Given the description of an element on the screen output the (x, y) to click on. 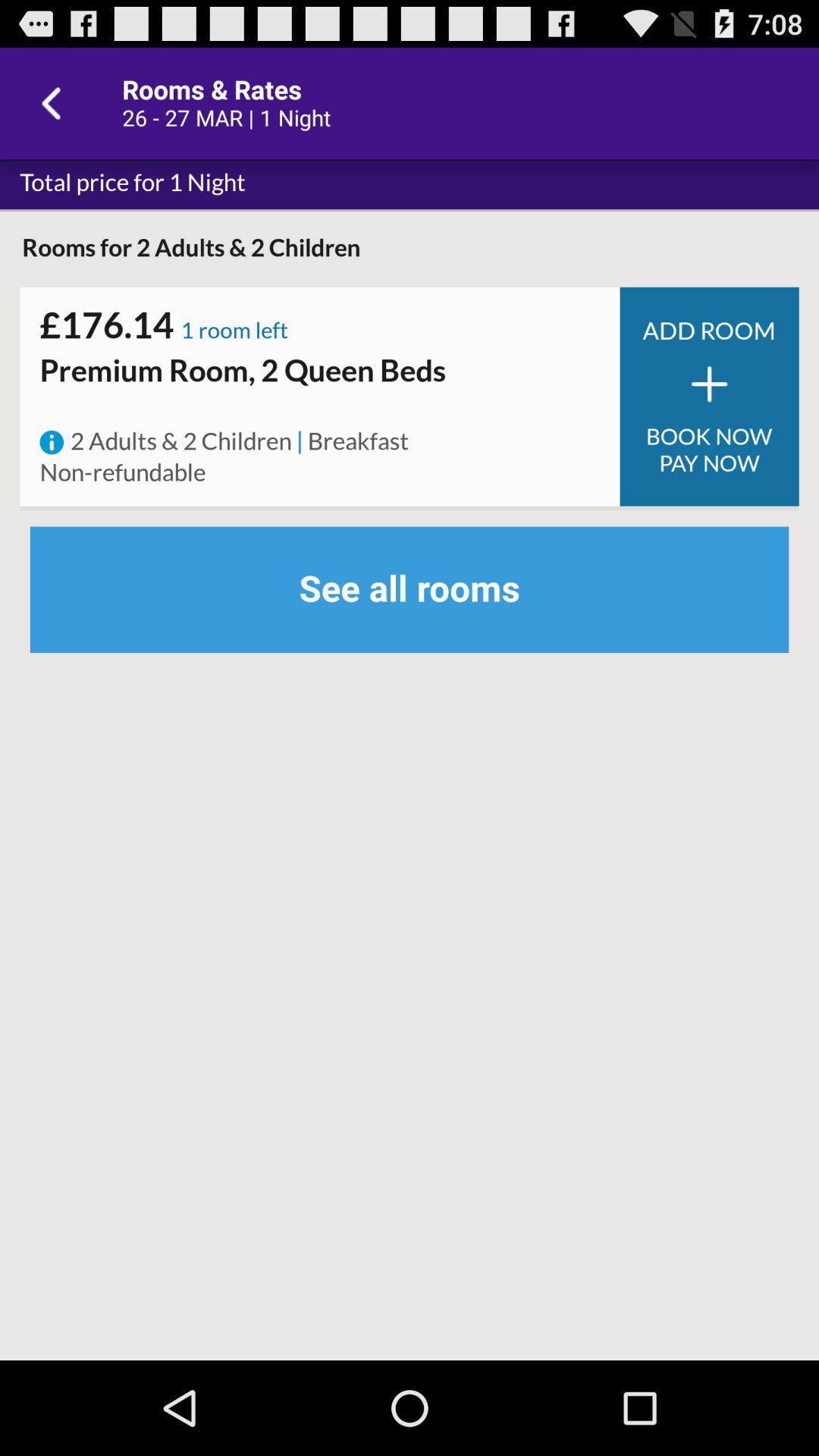
tap the item above non-refundable item (51, 442)
